Given the description of an element on the screen output the (x, y) to click on. 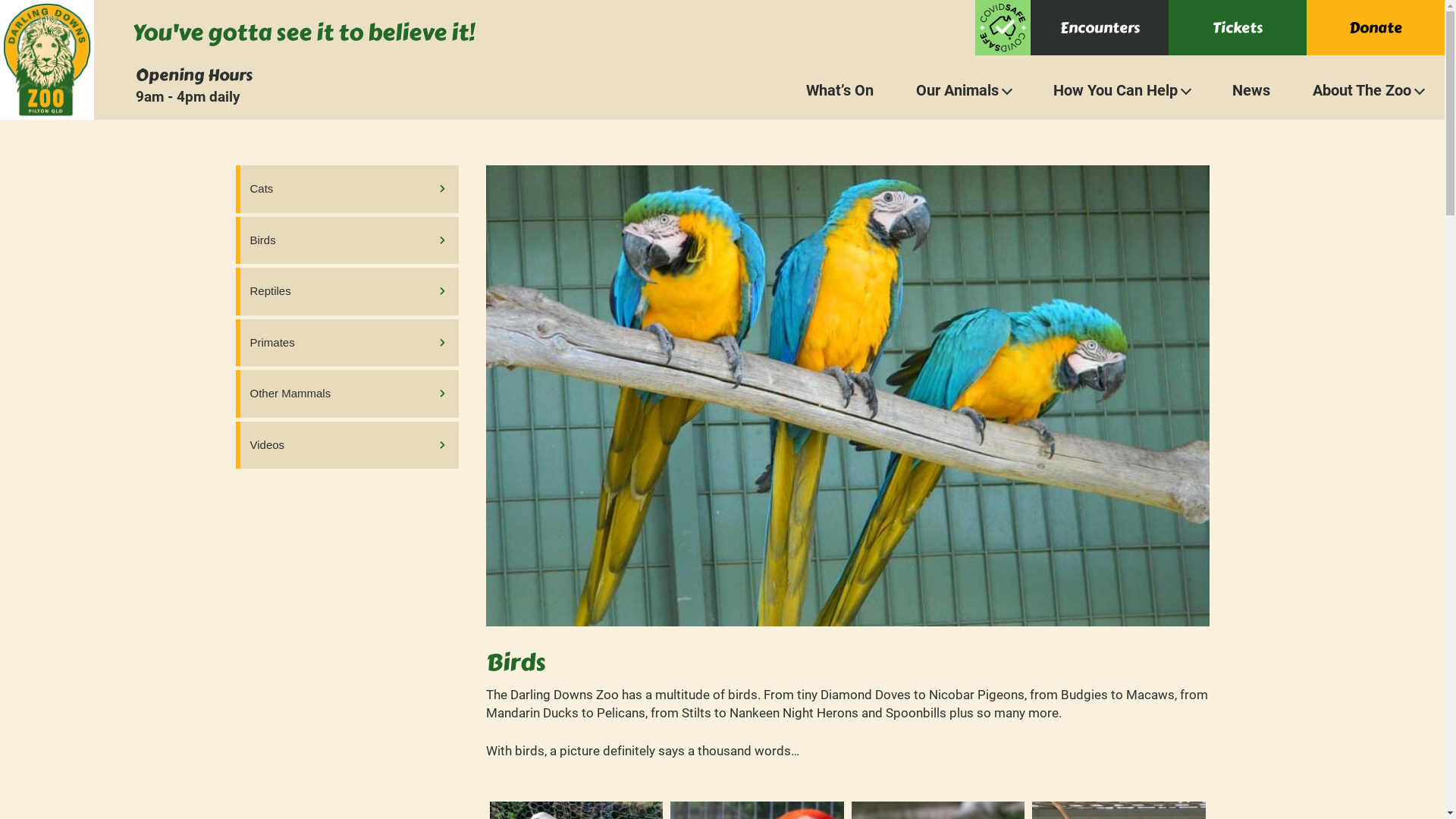
Birds Element type: text (346, 240)
News Element type: text (1251, 87)
Encounters Element type: text (1099, 27)
Primates Element type: text (346, 342)
Donate Element type: text (1375, 27)
About The Zoo Element type: text (1367, 87)
Tickets Element type: text (1237, 27)
Videos Element type: text (346, 445)
Our Animals Element type: text (963, 87)
Other Mammals Element type: text (346, 393)
Cats Element type: text (346, 189)
How You Can Help Element type: text (1121, 87)
Reptiles Element type: text (346, 291)
